Given the description of an element on the screen output the (x, y) to click on. 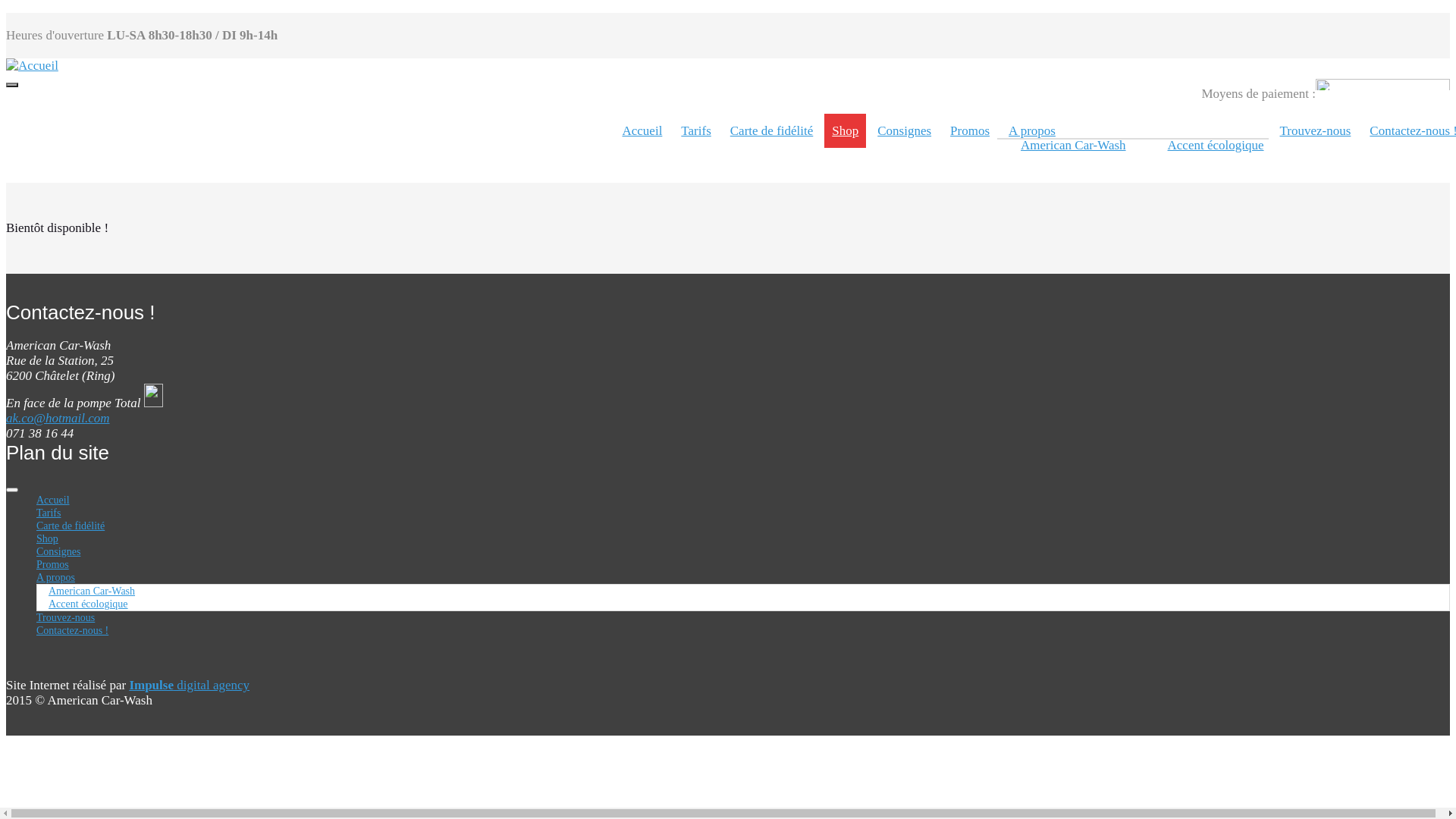
Shop Element type: text (845, 130)
Impulse digital agency Element type: text (188, 684)
Consignes Element type: text (58, 551)
Tarifs Element type: text (48, 512)
Aller au contenu principal Element type: text (6, 12)
Accueil Element type: text (641, 130)
Tarifs Element type: text (695, 130)
Contactez-nous ! Element type: text (72, 630)
A propos Element type: text (1032, 130)
Accueil Element type: hover (32, 65)
Accueil Element type: text (52, 499)
ak.co@hotmail.com Element type: text (57, 418)
Trouvez-nous Element type: text (1315, 130)
Shop Element type: text (47, 538)
Trouvez-nous Element type: text (65, 617)
Promos Element type: text (969, 130)
American Car-Wash Element type: text (91, 590)
Promos Element type: text (52, 564)
American Car-Wash Element type: text (1072, 145)
Consignes Element type: text (903, 130)
A propos Element type: text (55, 577)
